Given the description of an element on the screen output the (x, y) to click on. 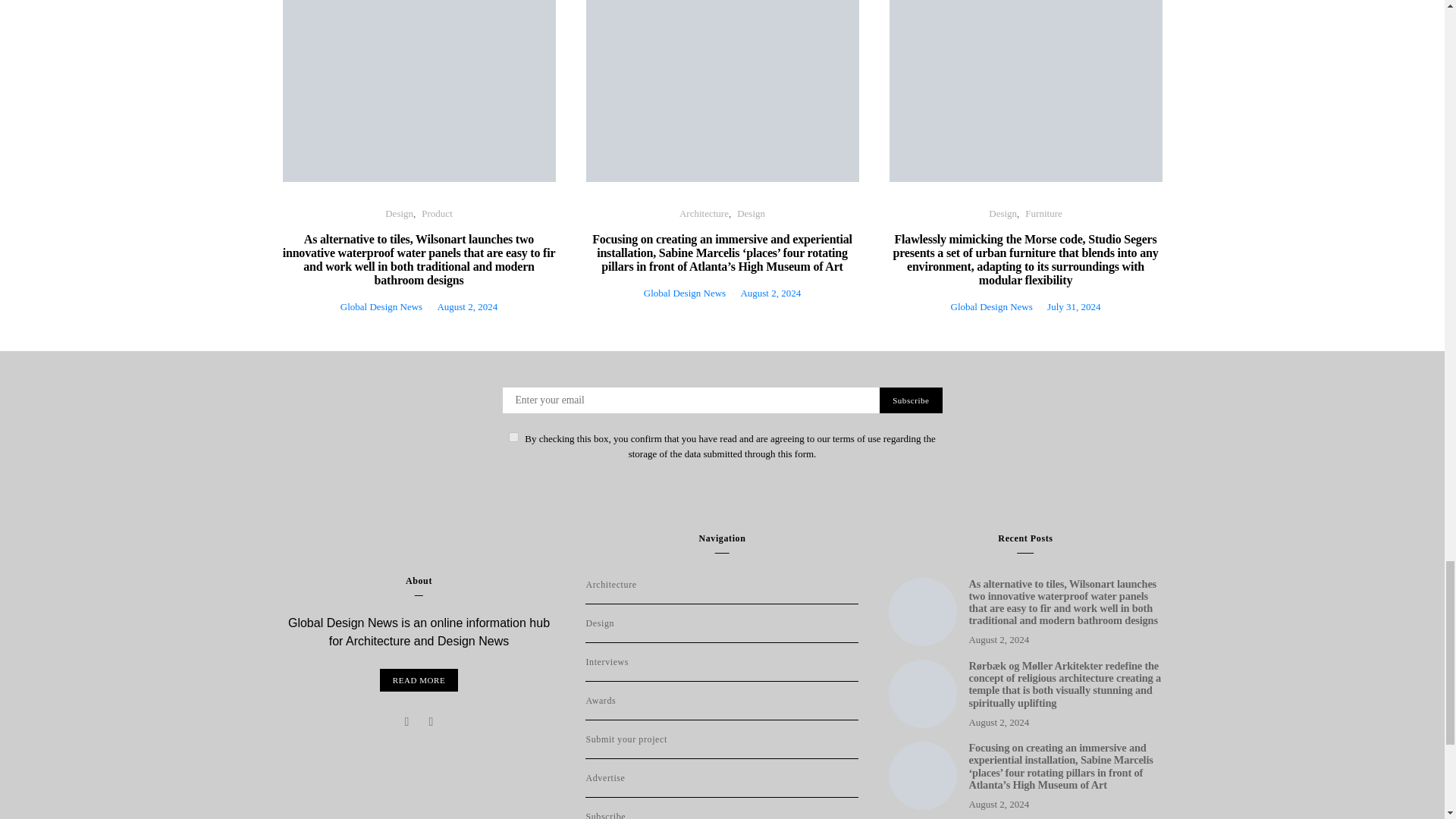
View all posts by Global Design News (991, 306)
View all posts by Global Design News (381, 306)
View all posts by Global Design News (684, 292)
on (513, 437)
